Given the description of an element on the screen output the (x, y) to click on. 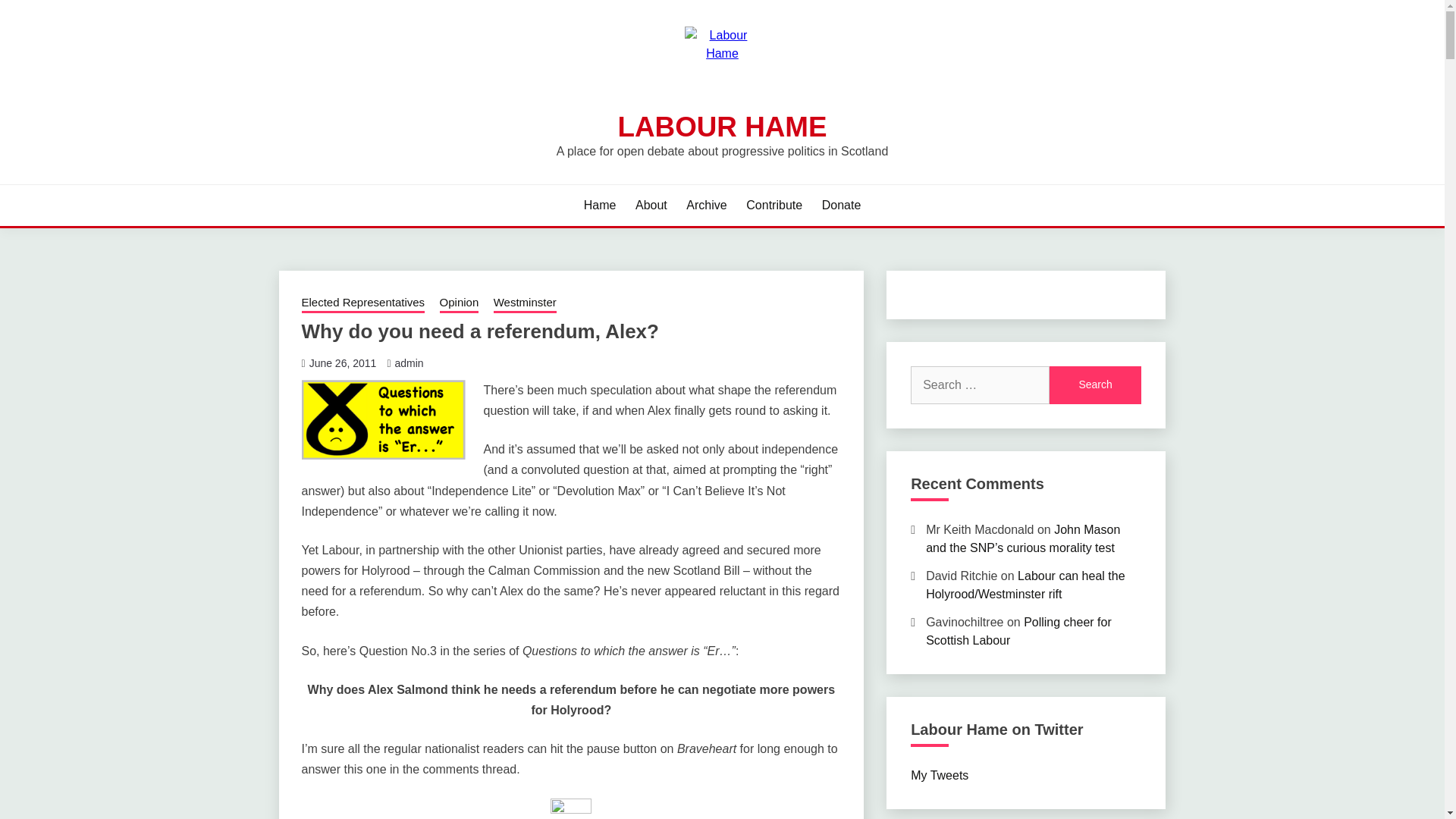
Contribute (773, 205)
Donate (841, 205)
LABOUR HAME (722, 126)
Hame (599, 205)
Opinion (459, 303)
About (650, 205)
admin (408, 363)
Westminster (524, 303)
Search (1095, 385)
Archive (705, 205)
